Given the description of an element on the screen output the (x, y) to click on. 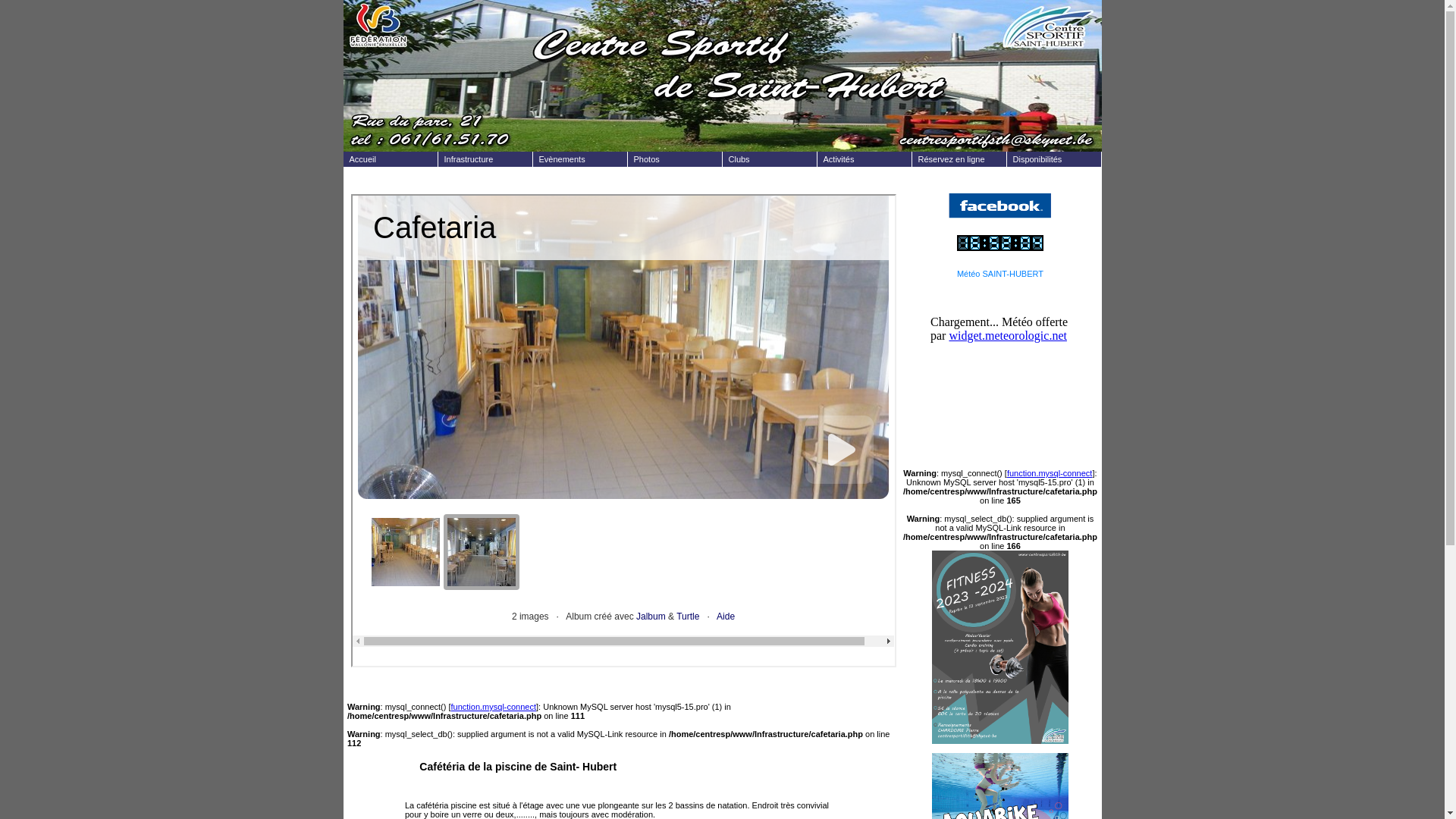
Clubs Element type: text (768, 158)
Photos Element type: text (674, 158)
Accueil Element type: text (389, 158)
function.mysql-connect Element type: text (1049, 472)
function.mysql-connect Element type: text (493, 706)
Infrastructure Element type: text (485, 158)
